Given the description of an element on the screen output the (x, y) to click on. 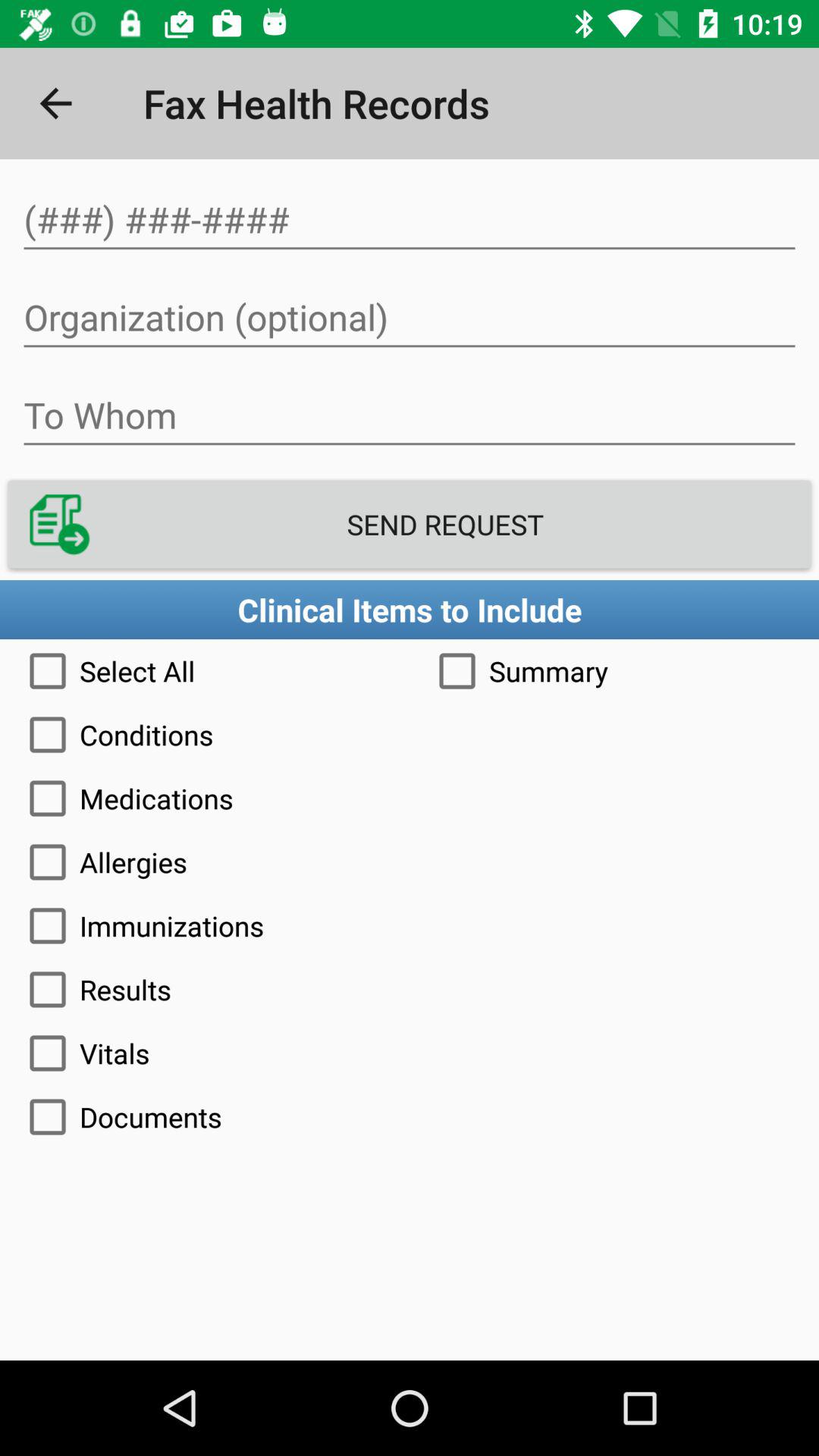
choose icon below the select all icon (409, 734)
